Given the description of an element on the screen output the (x, y) to click on. 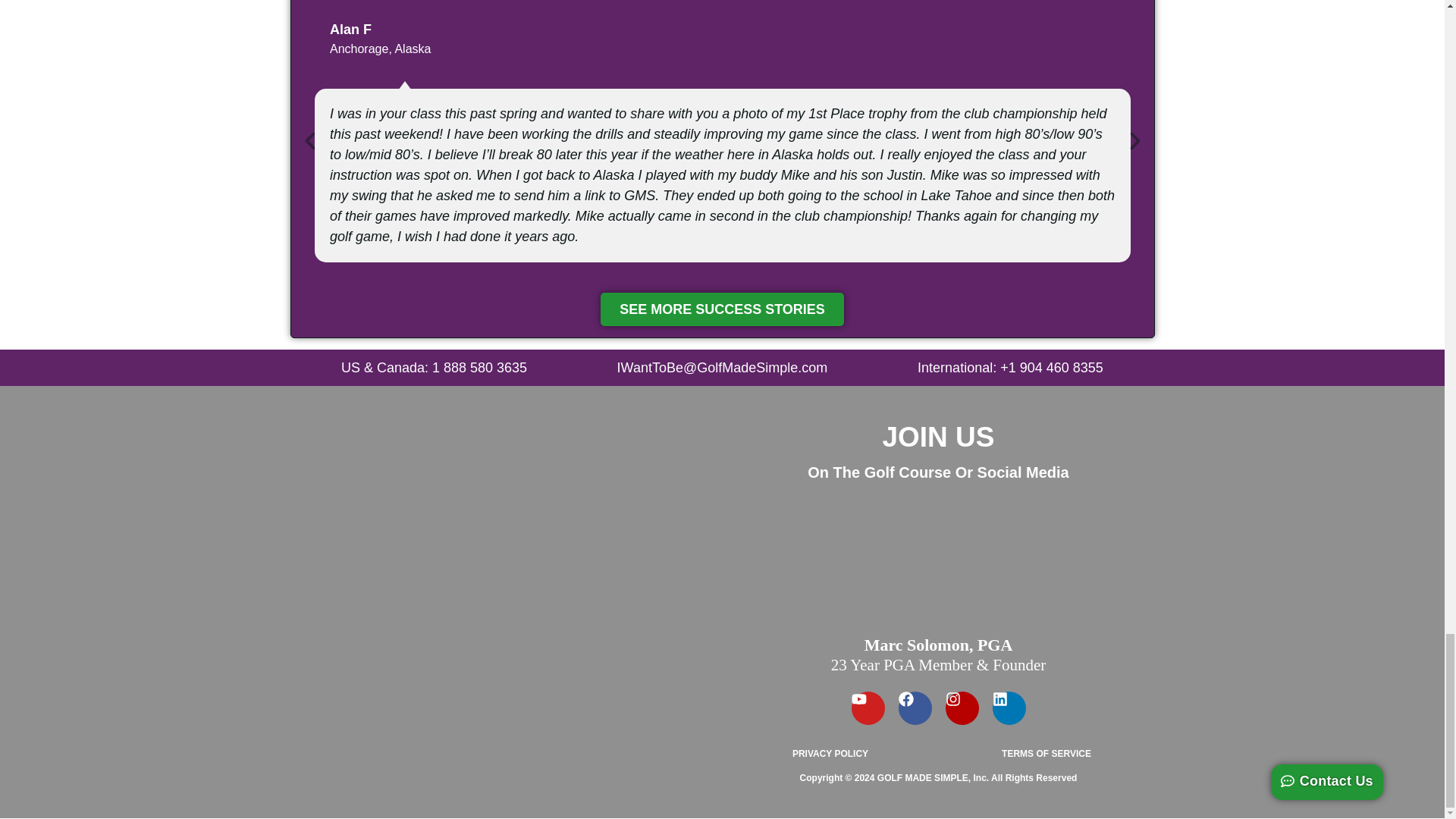
SEE MORE SUCCESS STORIES (721, 308)
